Given the description of an element on the screen output the (x, y) to click on. 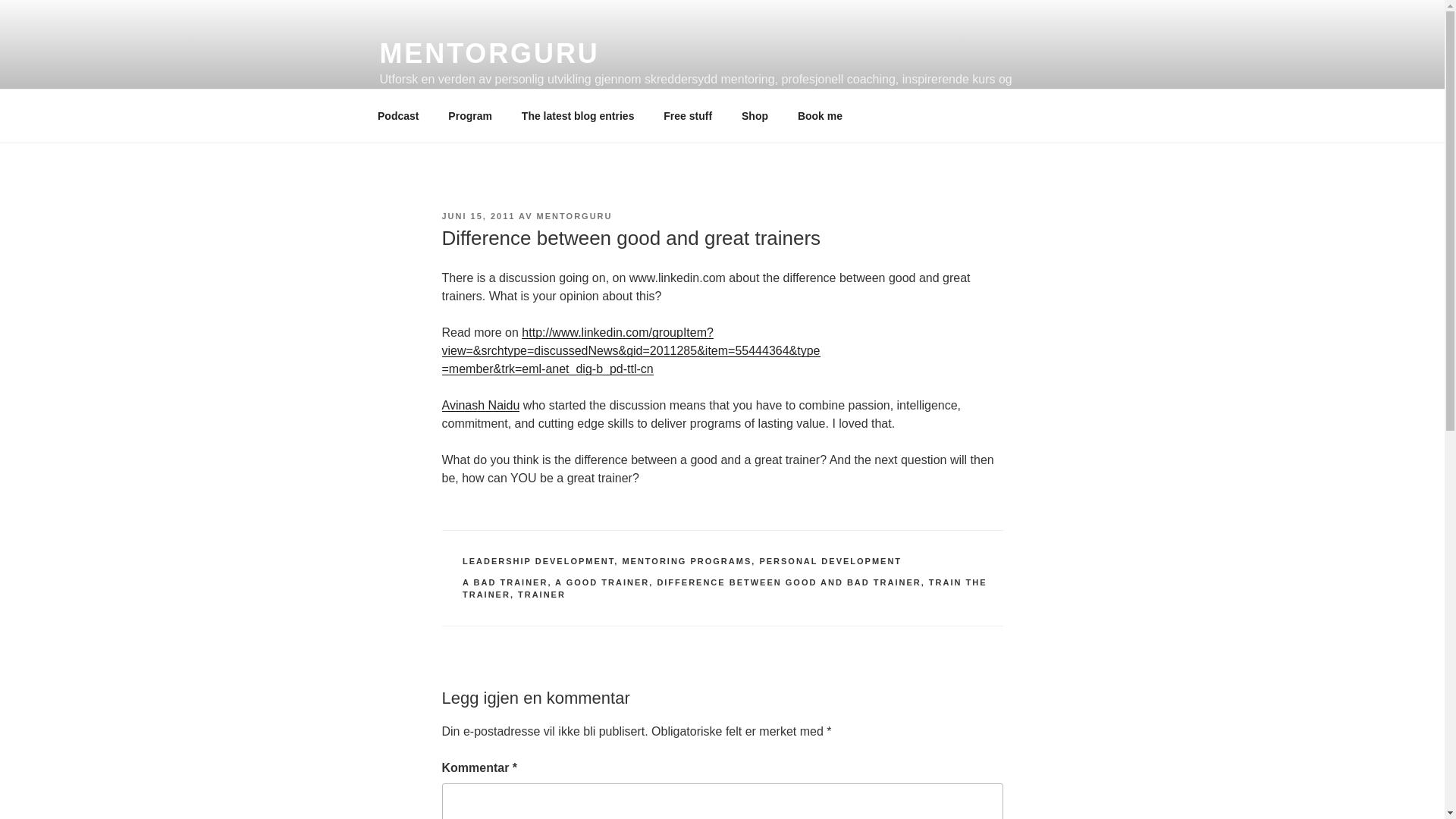
Book me (820, 115)
JUNI 15, 2011 (478, 215)
MENTORGURU (574, 215)
Free stuff (687, 115)
See this member's activity (480, 404)
Avinash Naidu (480, 404)
A BAD TRAINER (505, 582)
Podcast (397, 115)
Program (470, 115)
The latest blog entries (577, 115)
